Given the description of an element on the screen output the (x, y) to click on. 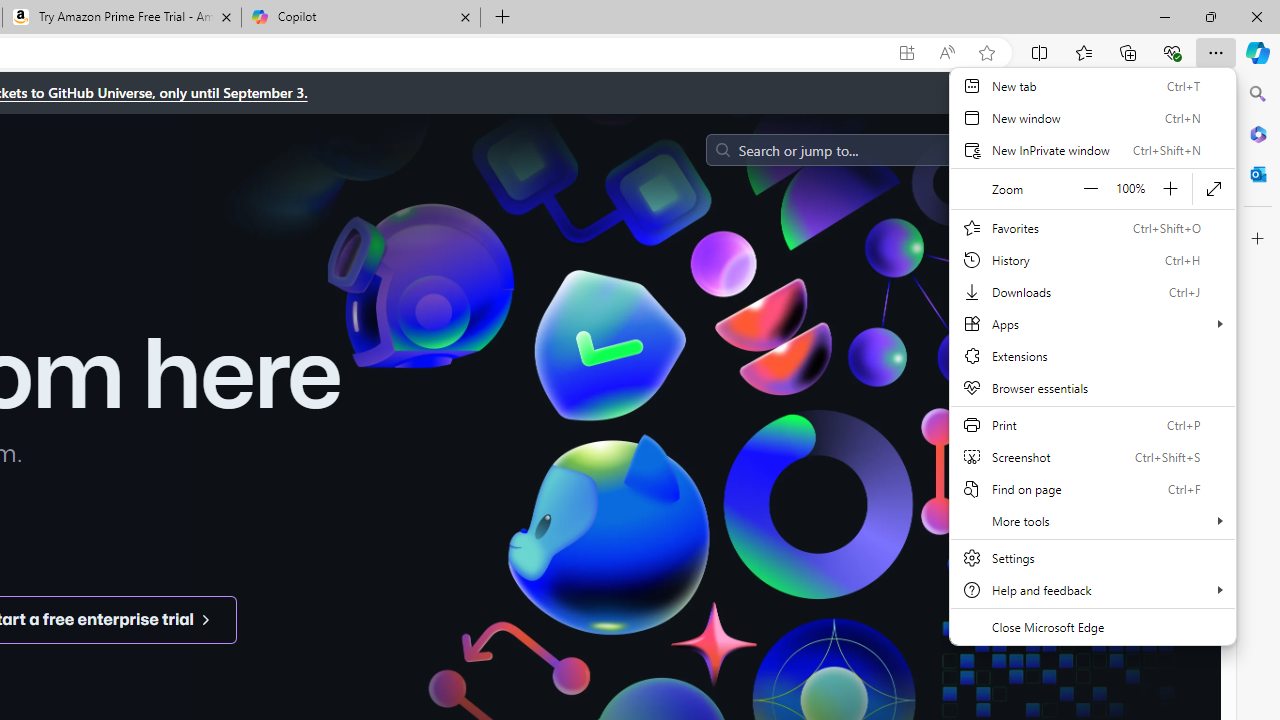
Close Microsoft Edge (1092, 626)
Downloads (1092, 291)
New InPrivate window (1092, 149)
Zoom in (Ctrl+Plus key) (1170, 188)
Sign up (1152, 149)
Extensions (1092, 355)
App available. Install GitHub (906, 53)
